Given the description of an element on the screen output the (x, y) to click on. 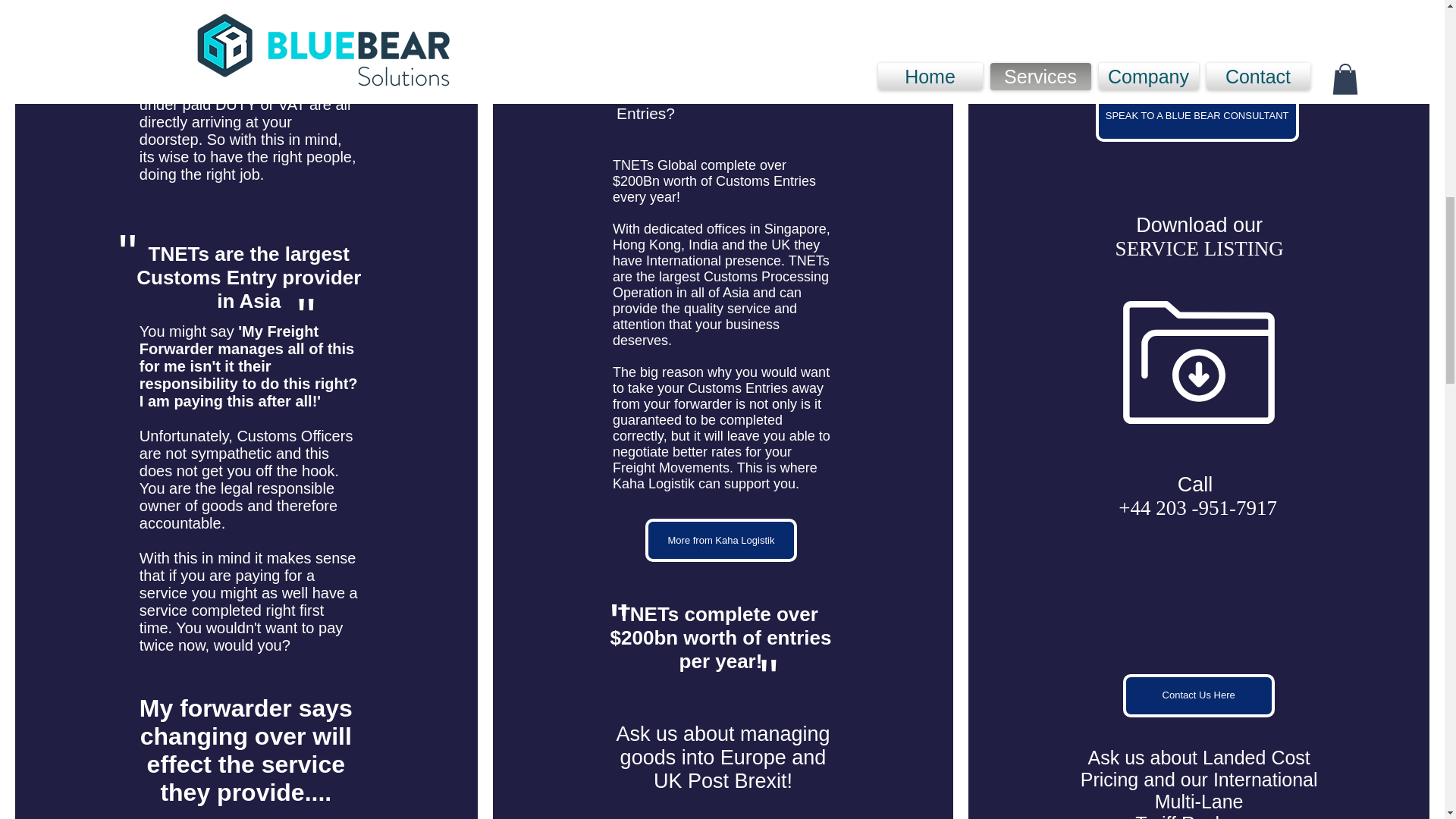
SPEAK TO A BLUE BEAR CONSULTANT (1197, 115)
More from Kaha Logistik (720, 539)
Contact Us Here (1198, 695)
